Given the description of an element on the screen output the (x, y) to click on. 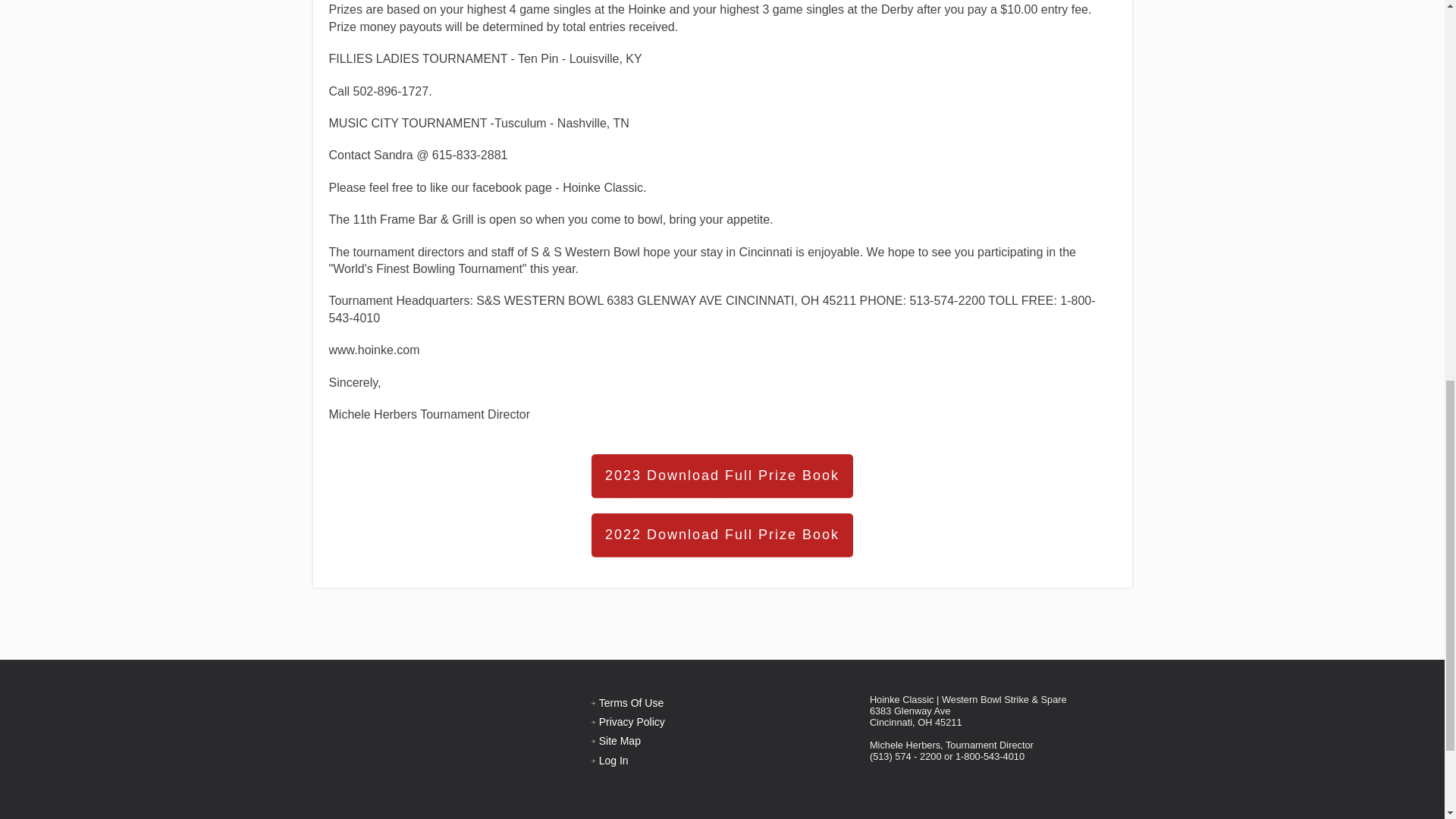
2022 Download Full Prize Book (722, 535)
Log In (613, 760)
Site Map (619, 740)
Privacy Policy (631, 721)
2023 Download Full Prize Book (722, 475)
Terms Of Use (630, 702)
